Given the description of an element on the screen output the (x, y) to click on. 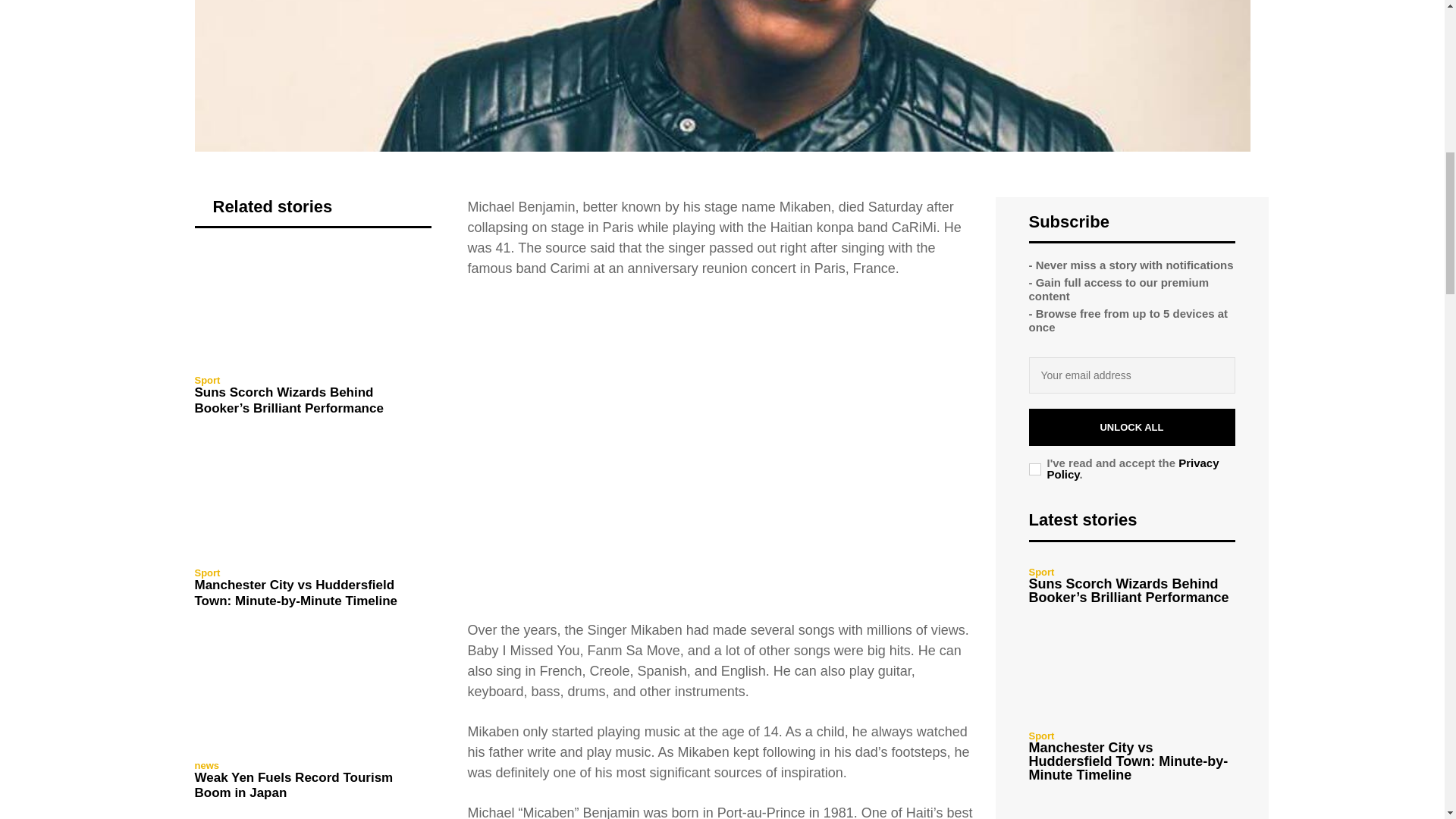
Sport (206, 379)
